Given the description of an element on the screen output the (x, y) to click on. 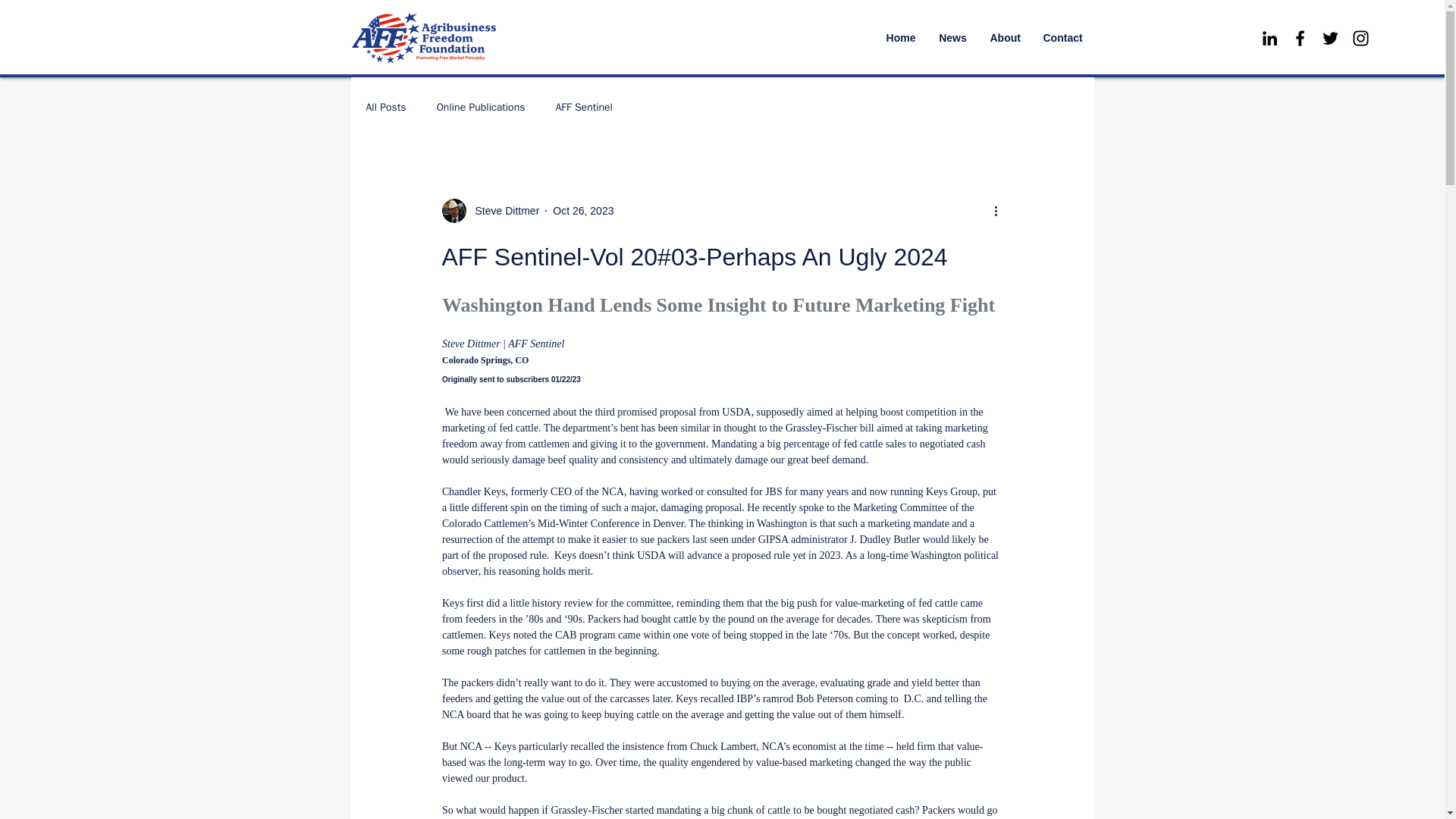
Steve Dittmer (501, 211)
Online Publications (480, 107)
Steve Dittmer (489, 210)
AFF Sentinel (582, 107)
All Posts (385, 107)
Contact (1061, 38)
Oct 26, 2023 (582, 210)
About (1004, 38)
Home (901, 38)
News (952, 38)
